Given the description of an element on the screen output the (x, y) to click on. 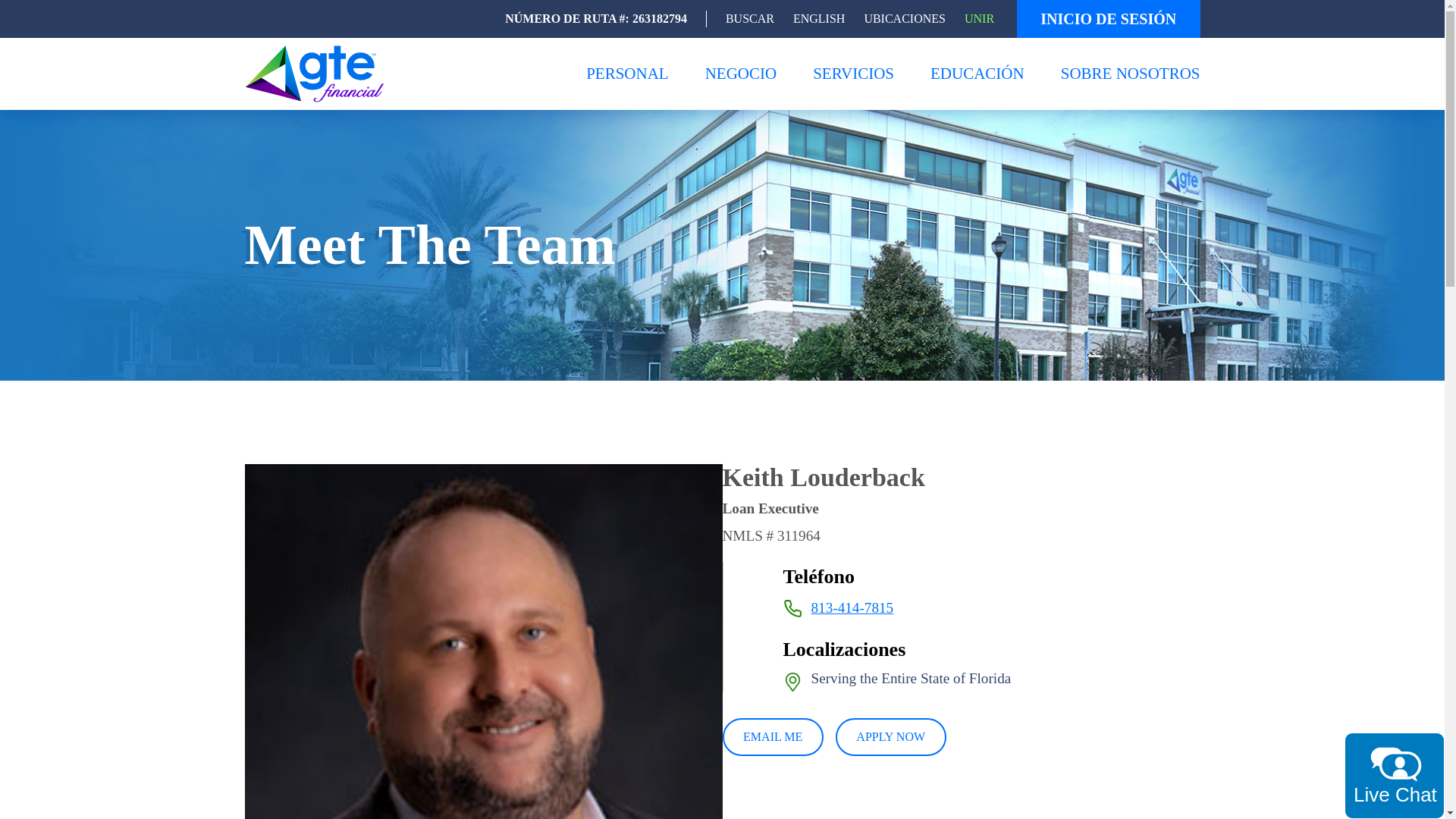
Home (317, 73)
ENGLISH (818, 18)
UBICACIONES (903, 18)
UNIR (978, 18)
BUSCAR (749, 18)
